Given the description of an element on the screen output the (x, y) to click on. 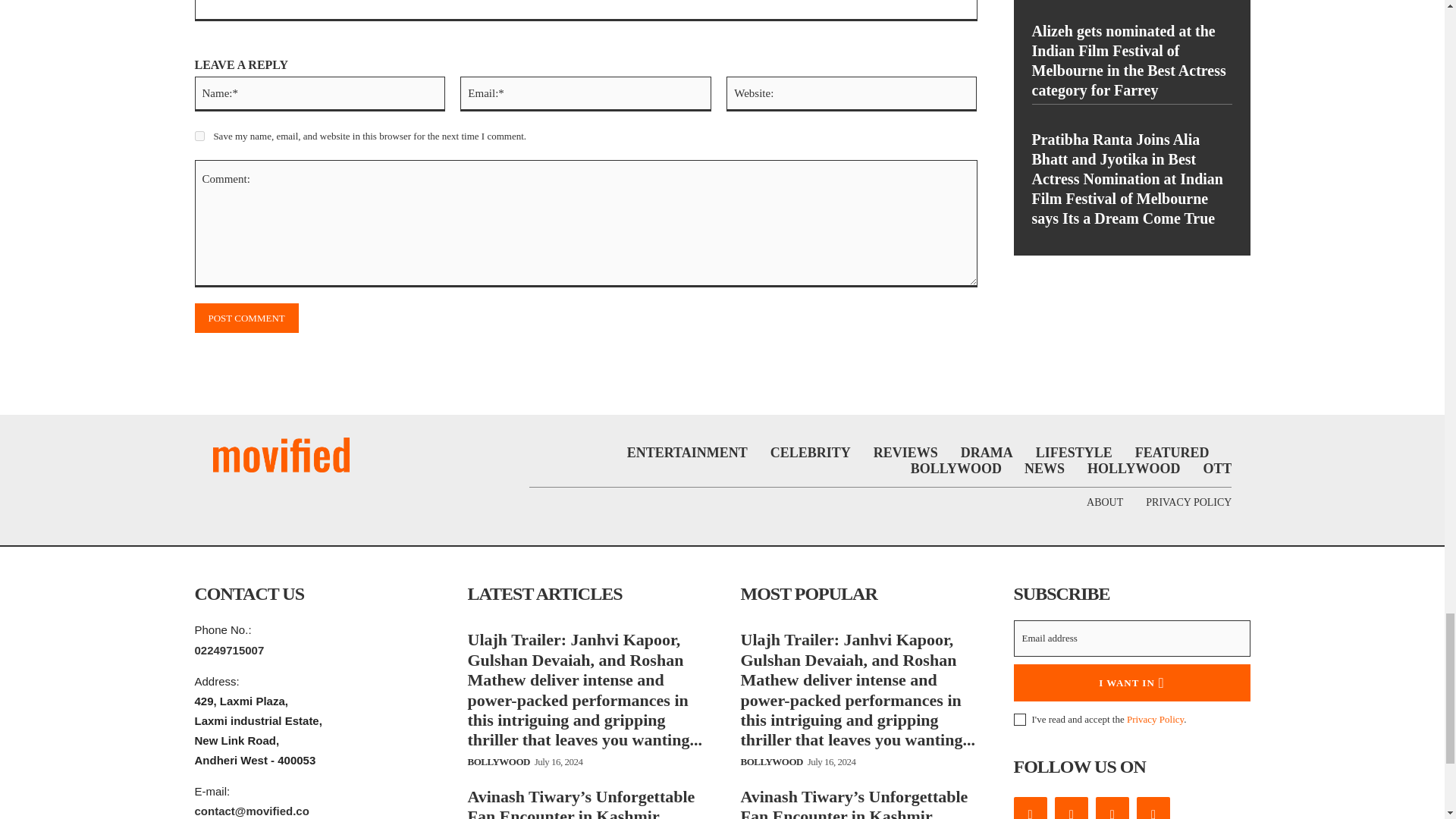
yes (198, 135)
Post Comment (245, 317)
